Given the description of an element on the screen output the (x, y) to click on. 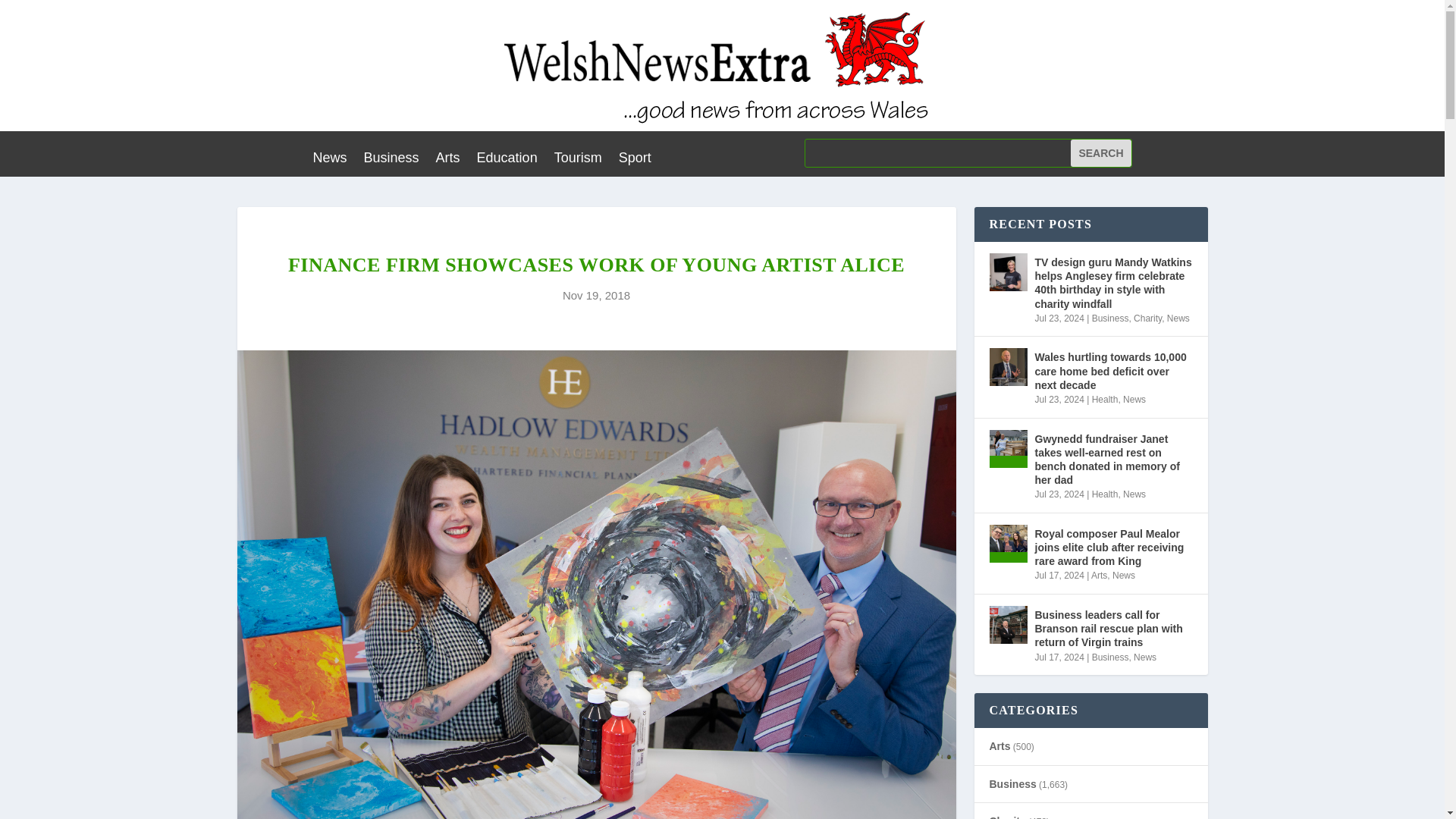
Search (1100, 153)
Search (1100, 153)
Search (1100, 153)
Arts (447, 160)
News (329, 160)
logo10 (722, 65)
Education (507, 160)
Sport (634, 160)
Business (391, 160)
Tourism (578, 160)
